Given the description of an element on the screen output the (x, y) to click on. 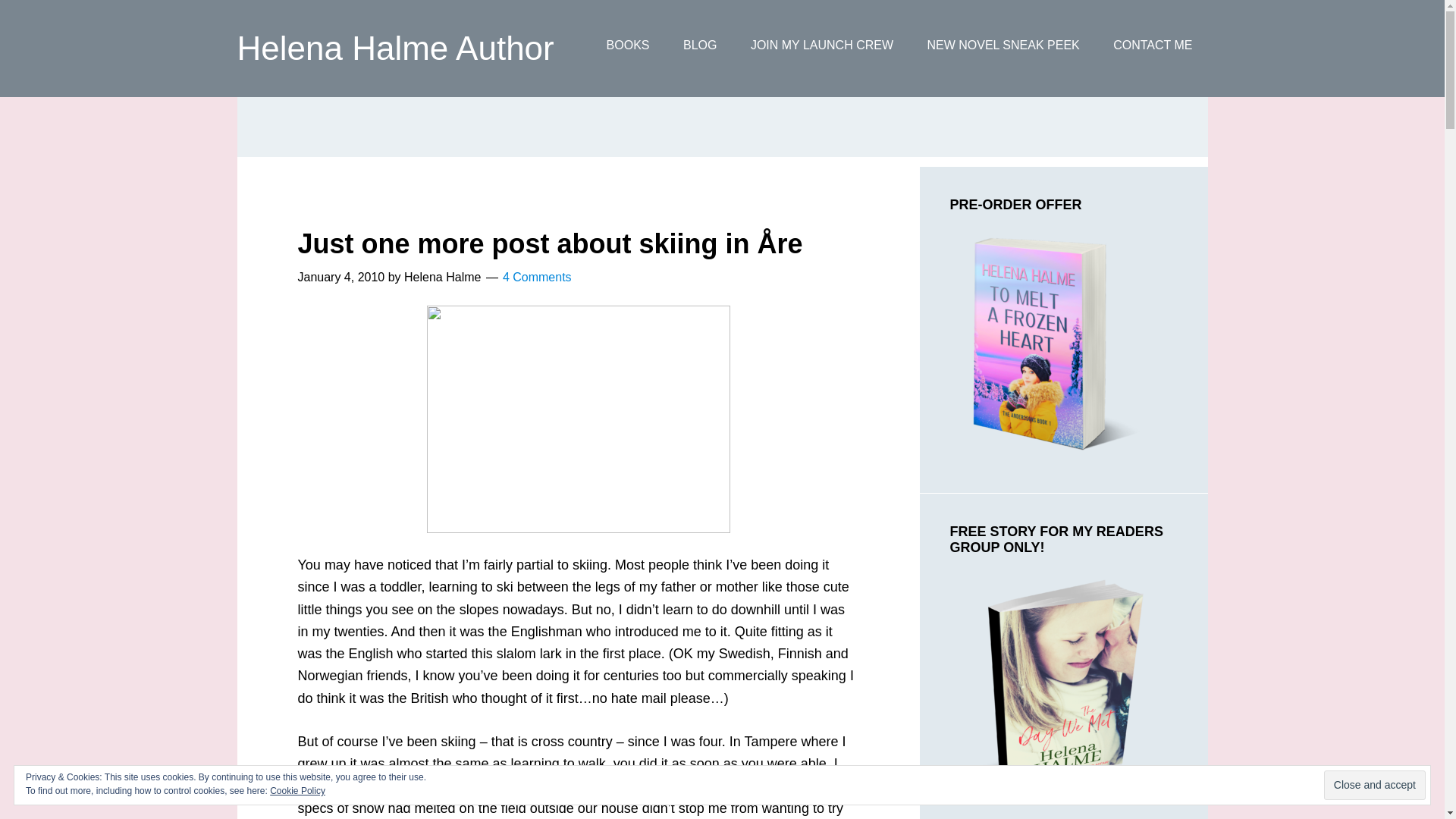
NEW NOVEL SNEAK PEEK (1002, 45)
Pre-order offer (1050, 342)
Helena Halme Author (394, 47)
Close and accept (1374, 785)
4 Comments (537, 277)
JOIN MY LAUNCH CREW (821, 45)
CONTACT ME (1152, 45)
